Given the description of an element on the screen output the (x, y) to click on. 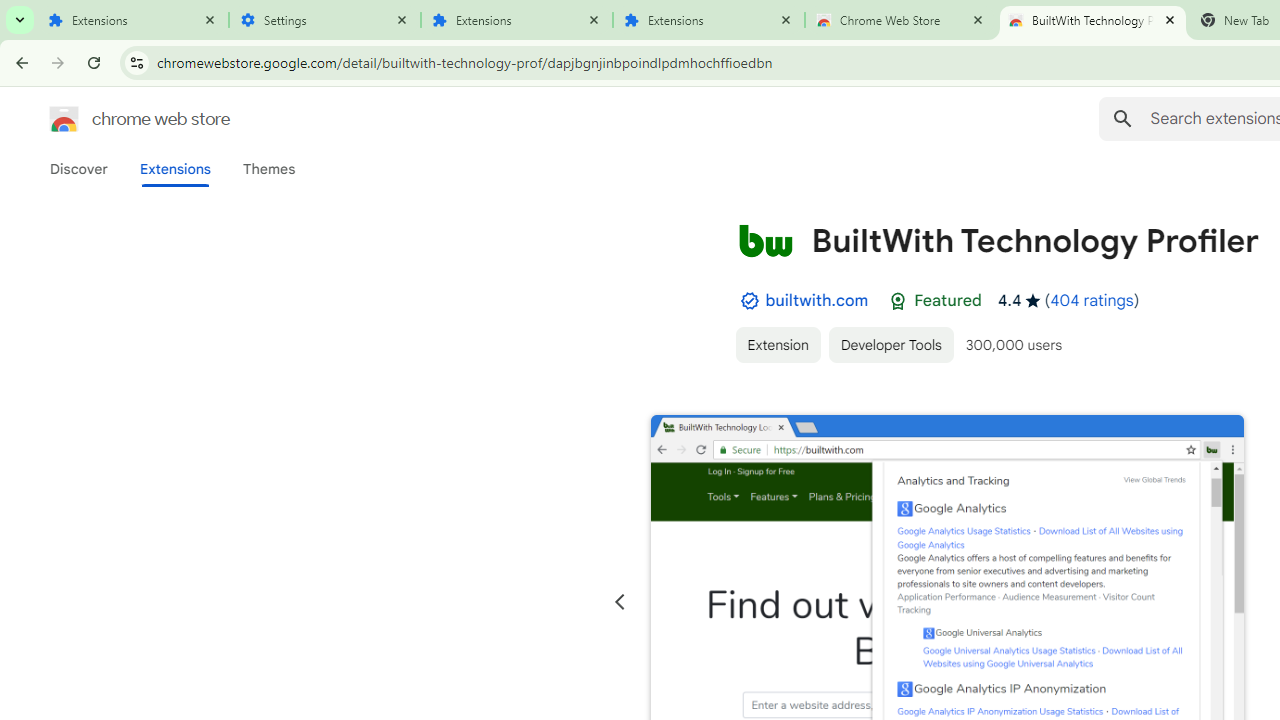
Previous slide (619, 601)
Discover (79, 169)
Chrome Web Store logo (63, 118)
By Established Publisher Badge (749, 301)
Item logo image for BuiltWith Technology Profiler (765, 240)
Featured Badge (898, 301)
Settings (325, 20)
Themes (269, 169)
Extensions (174, 169)
